Given the description of an element on the screen output the (x, y) to click on. 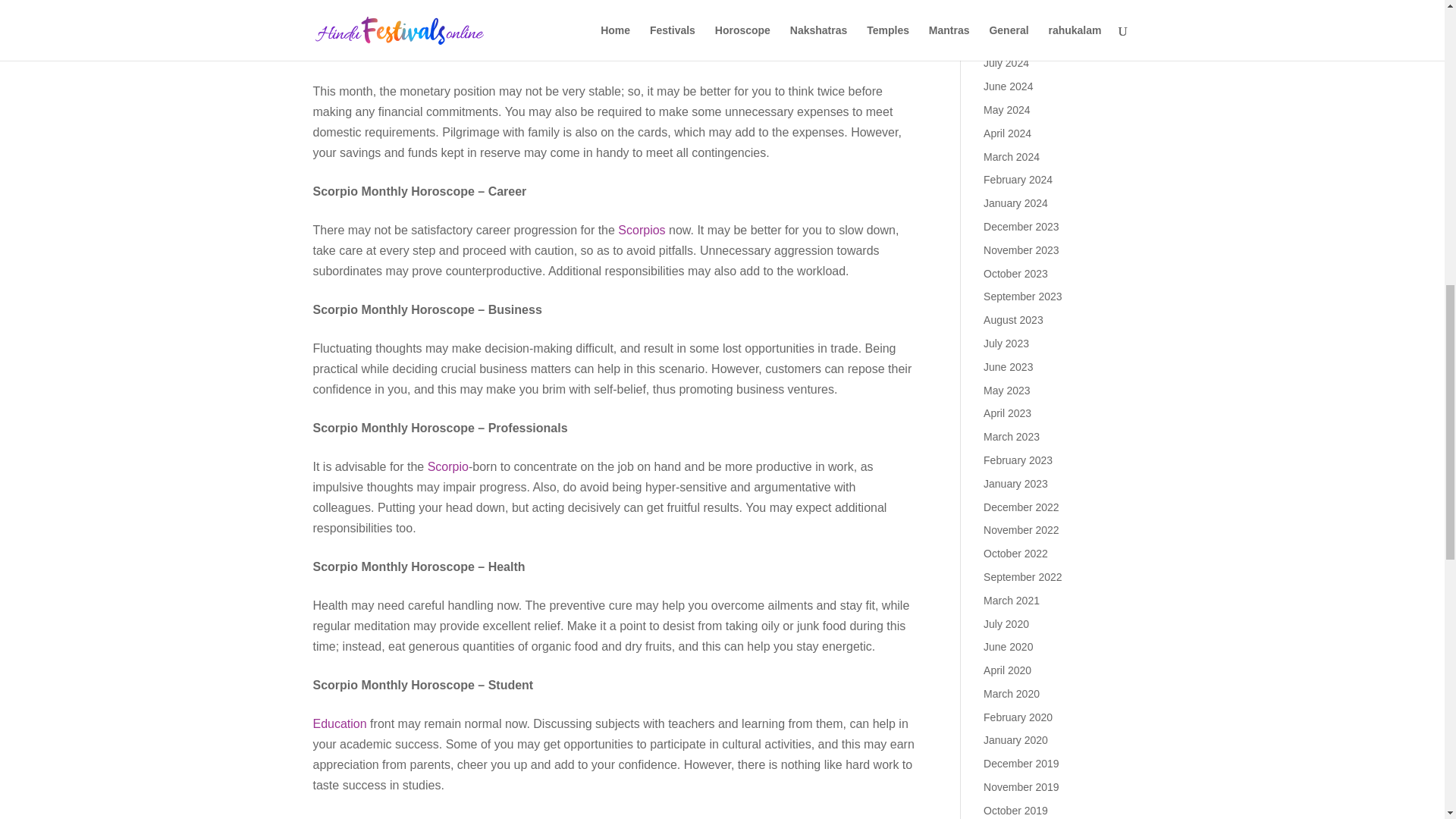
Scorpio (448, 466)
Education (339, 723)
Scorpios (641, 229)
